Given the description of an element on the screen output the (x, y) to click on. 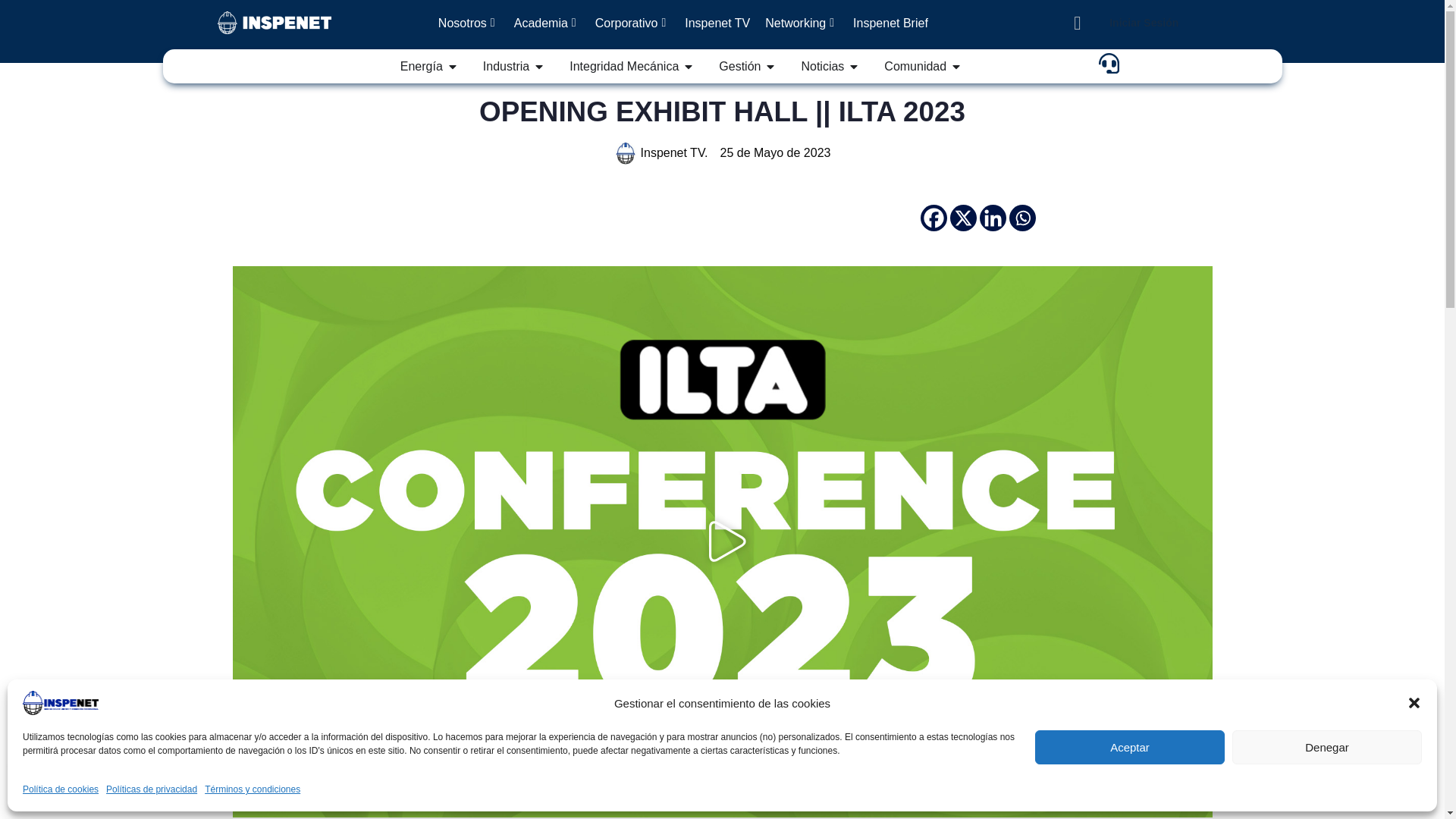
Networking (801, 22)
Nosotros (468, 22)
Academia (547, 22)
Inspenet Brief (890, 22)
Corporativo (633, 22)
Whatsapp (1022, 217)
X (963, 217)
Inspenet TV (717, 22)
Linkedin (992, 217)
Denegar (1326, 747)
Facebook (933, 217)
Aceptar (1129, 747)
